Given the description of an element on the screen output the (x, y) to click on. 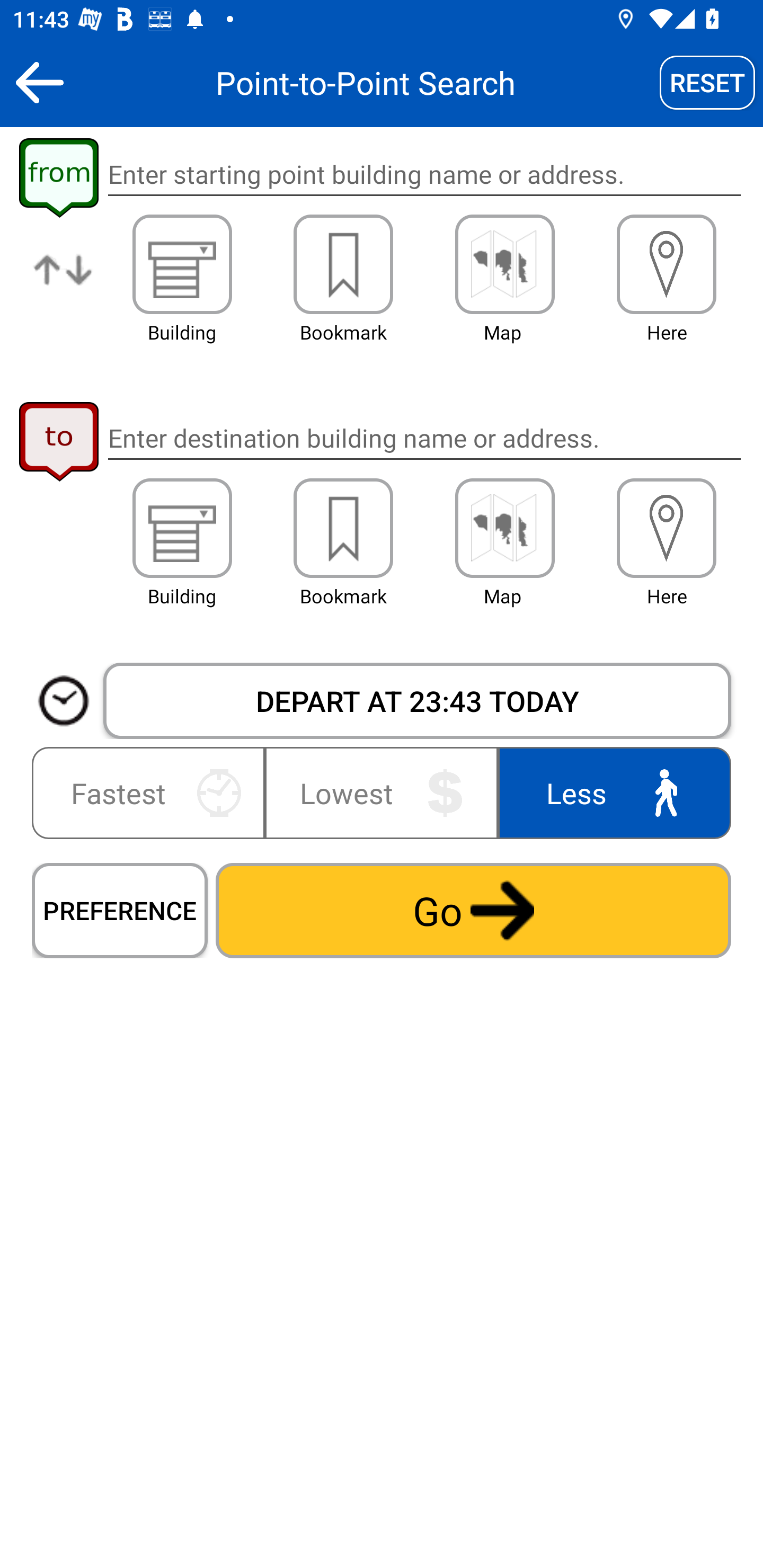
Back (39, 82)
RESET Reset (707, 81)
Enter starting point building name or address. (423, 174)
Building (181, 263)
Bookmarks (342, 263)
Select location on map (504, 263)
Here (666, 263)
Swap origin and destination (63, 284)
Enter destination building name or address. (423, 437)
Building (181, 528)
Bookmarks (342, 528)
Select location on map (504, 528)
Here (666, 528)
Lowest (381, 792)
Fastest (151, 792)
Less selected (610, 792)
PREFERENCE Preference (119, 910)
Go (472, 910)
